Given the description of an element on the screen output the (x, y) to click on. 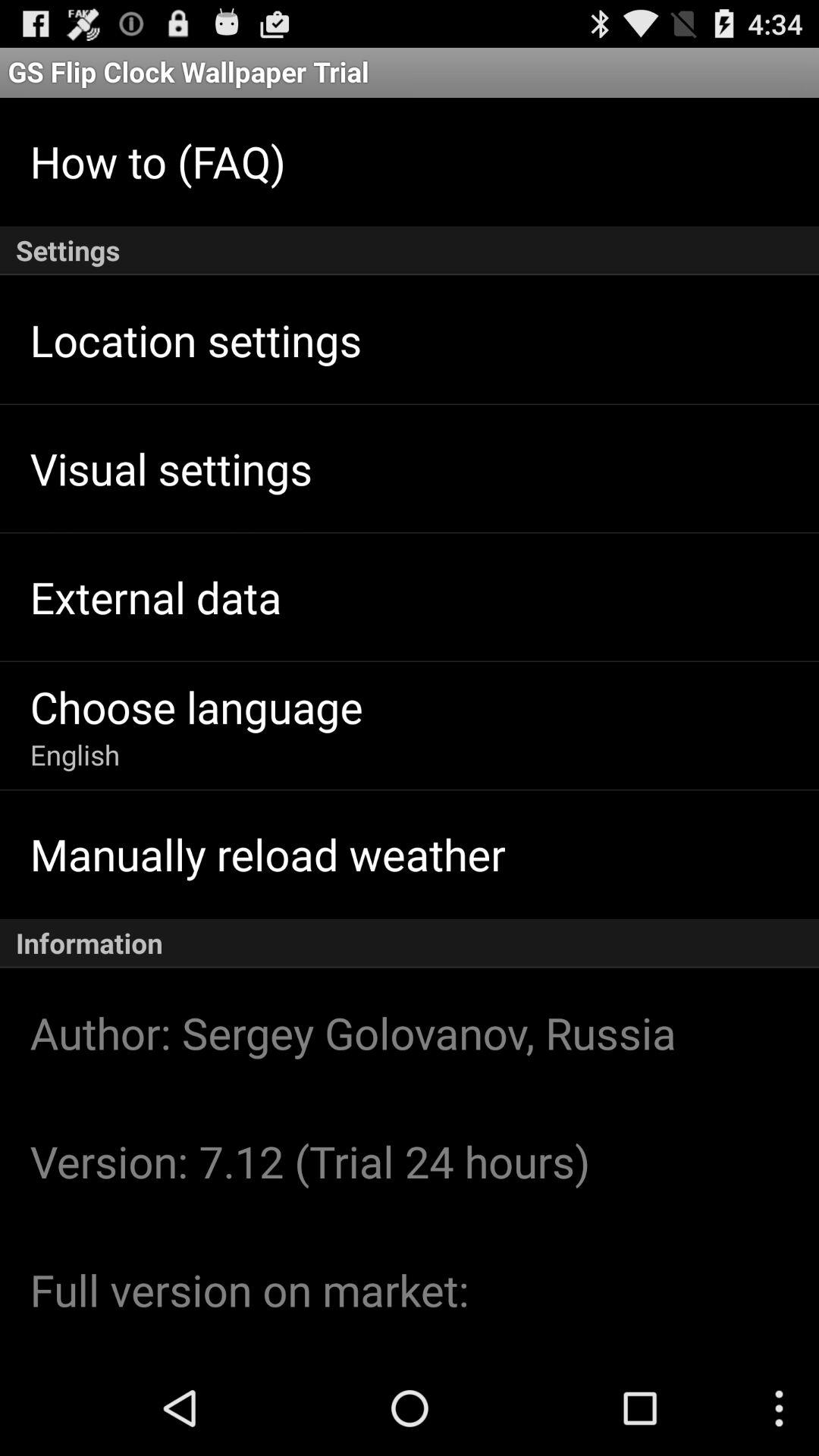
click the item below settings icon (195, 339)
